Given the description of an element on the screen output the (x, y) to click on. 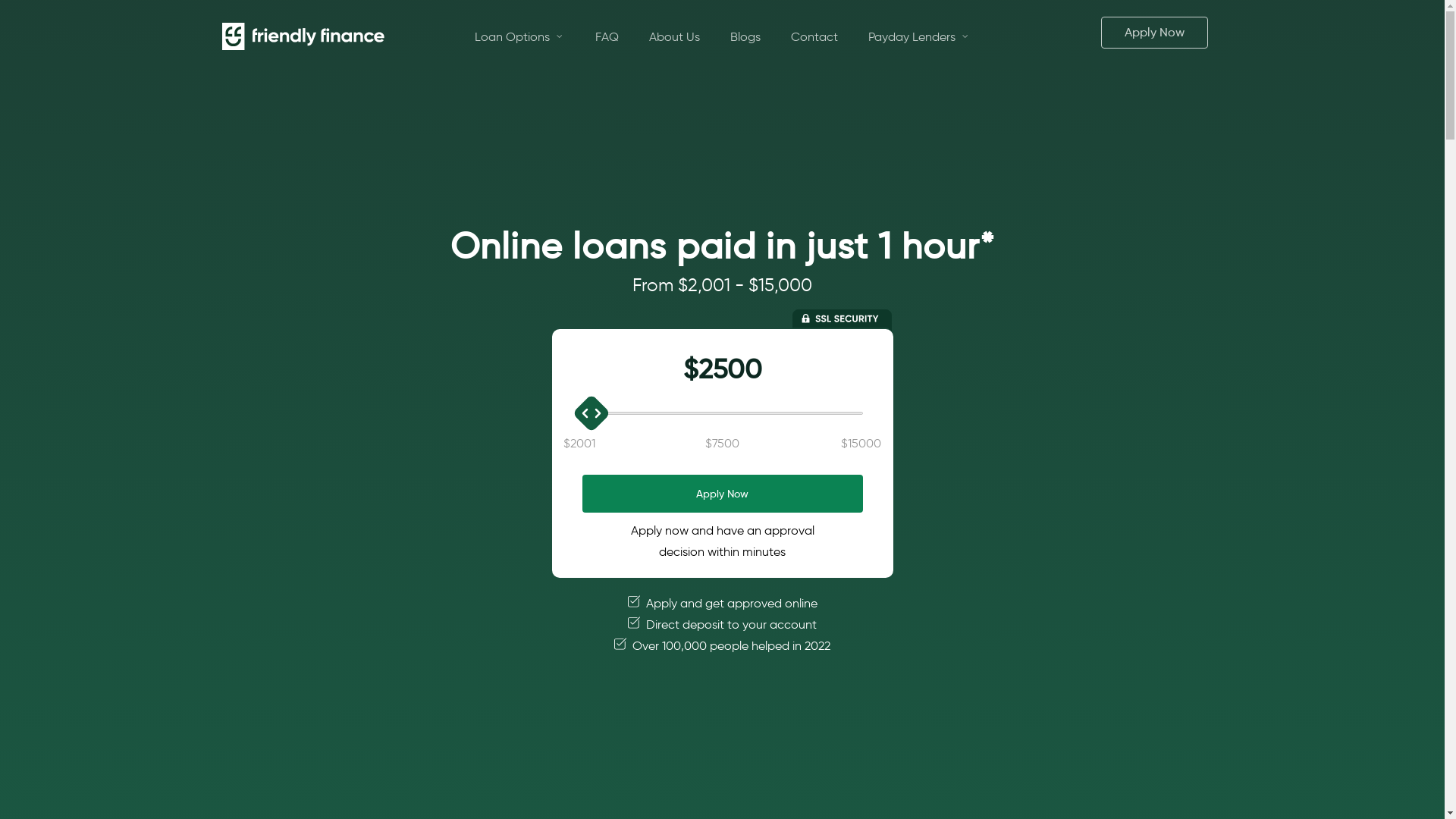
FAQ Element type: text (606, 36)
About Us Element type: text (674, 36)
Payday Lenders Element type: text (918, 36)
Contact Element type: text (813, 36)
Loan Options Element type: text (519, 36)
Blogs Element type: text (744, 36)
Apply Now Element type: text (722, 493)
Apply Now Element type: text (1154, 32)
